Given the description of an element on the screen output the (x, y) to click on. 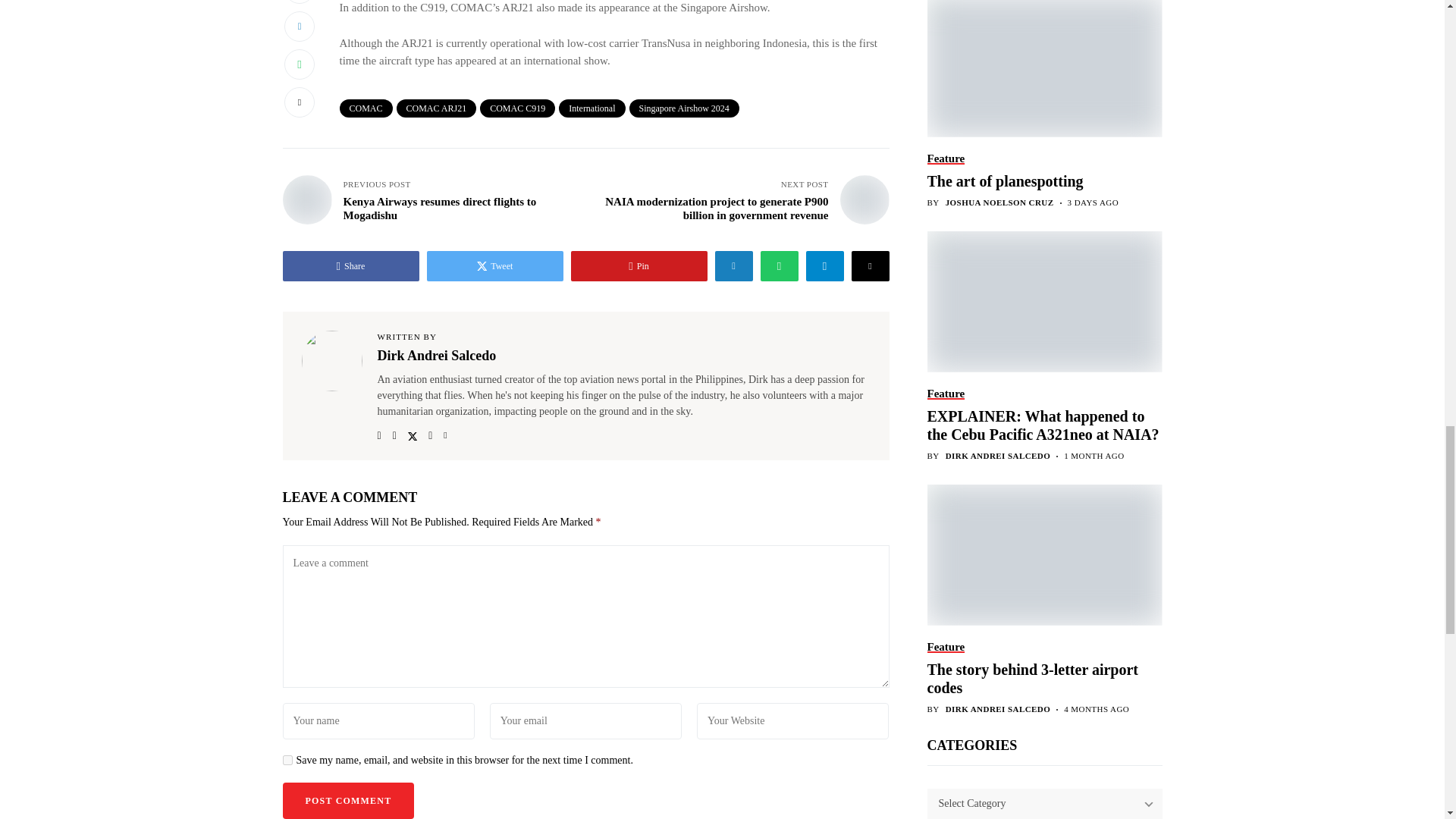
Post Comment (347, 800)
Posts by Dirk Andrei Salcedo (997, 507)
Posts by Dirk Andrei Salcedo (997, 254)
Posts by Joshua Noelson Cruz (999, 2)
yes (287, 759)
